Given the description of an element on the screen output the (x, y) to click on. 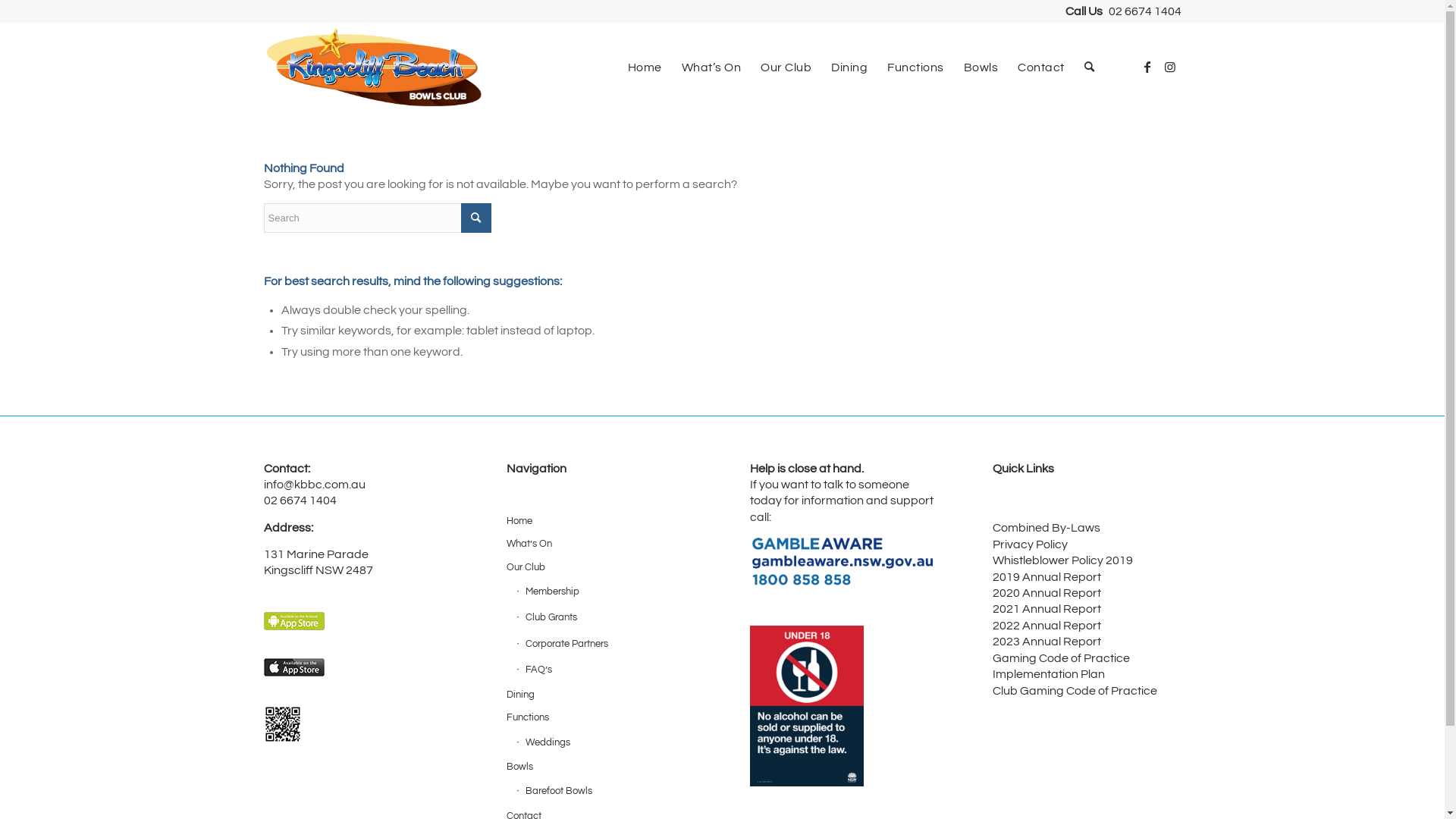
Gaming Code of Practice Implementation Plan Element type: text (1060, 666)
2023 Annual Report Element type: text (1046, 641)
Bowls Element type: text (980, 67)
Dining Element type: text (600, 695)
Our Club Element type: text (785, 67)
Bowls Element type: text (600, 767)
Club Grants Element type: text (605, 617)
Barefoot Bowls Element type: text (605, 791)
Weddings Element type: text (605, 743)
Instagram Element type: hover (1169, 66)
2021 Annual Report Element type: text (1046, 608)
2019 Annual Report Element type: text (1046, 577)
02 6674 1404 Element type: text (1144, 11)
Functions Element type: text (600, 717)
Home Element type: text (644, 67)
info@kbbc.com.au Element type: text (314, 484)
Combined By-Laws Element type: text (1046, 527)
Facebook Element type: hover (1146, 66)
2020 Annual Report Element type: text (1046, 592)
Our Club Element type: text (600, 567)
Privacy Policy Element type: text (1029, 544)
Functions Element type: text (915, 67)
Whistleblower Policy 2019 Element type: text (1062, 560)
Home Element type: text (600, 521)
Corporate Partners Element type: text (605, 644)
Club Gaming Code of Practice Element type: text (1074, 690)
2022 Annual Report Element type: text (1046, 625)
Contact Element type: text (1040, 67)
Membership Element type: text (605, 592)
Dining Element type: text (849, 67)
